Given the description of an element on the screen output the (x, y) to click on. 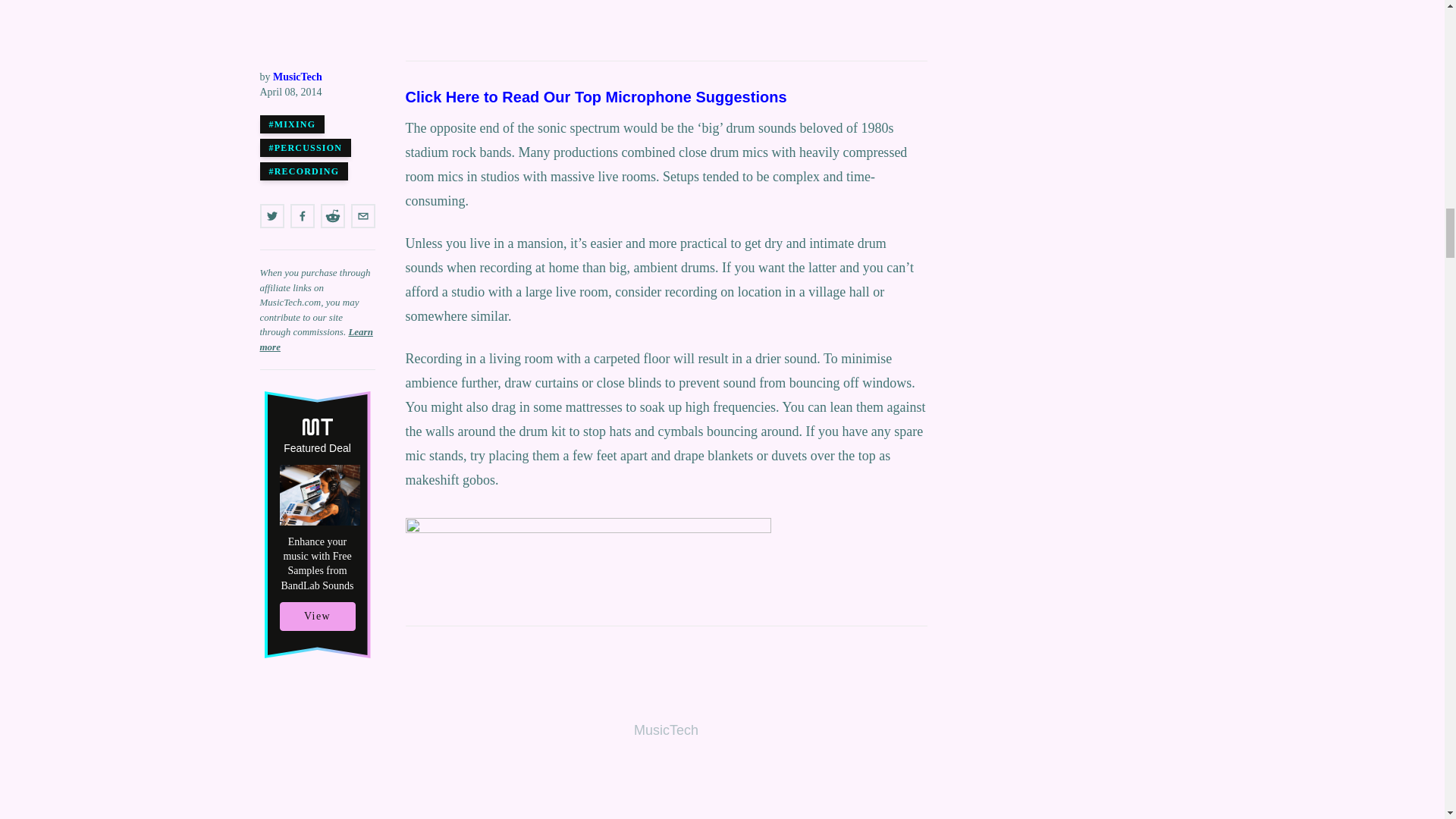
3rd party ad content (664, 25)
Click Here to Read Our Top Microphone Suggestions (595, 96)
3rd party ad content (664, 727)
